Given the description of an element on the screen output the (x, y) to click on. 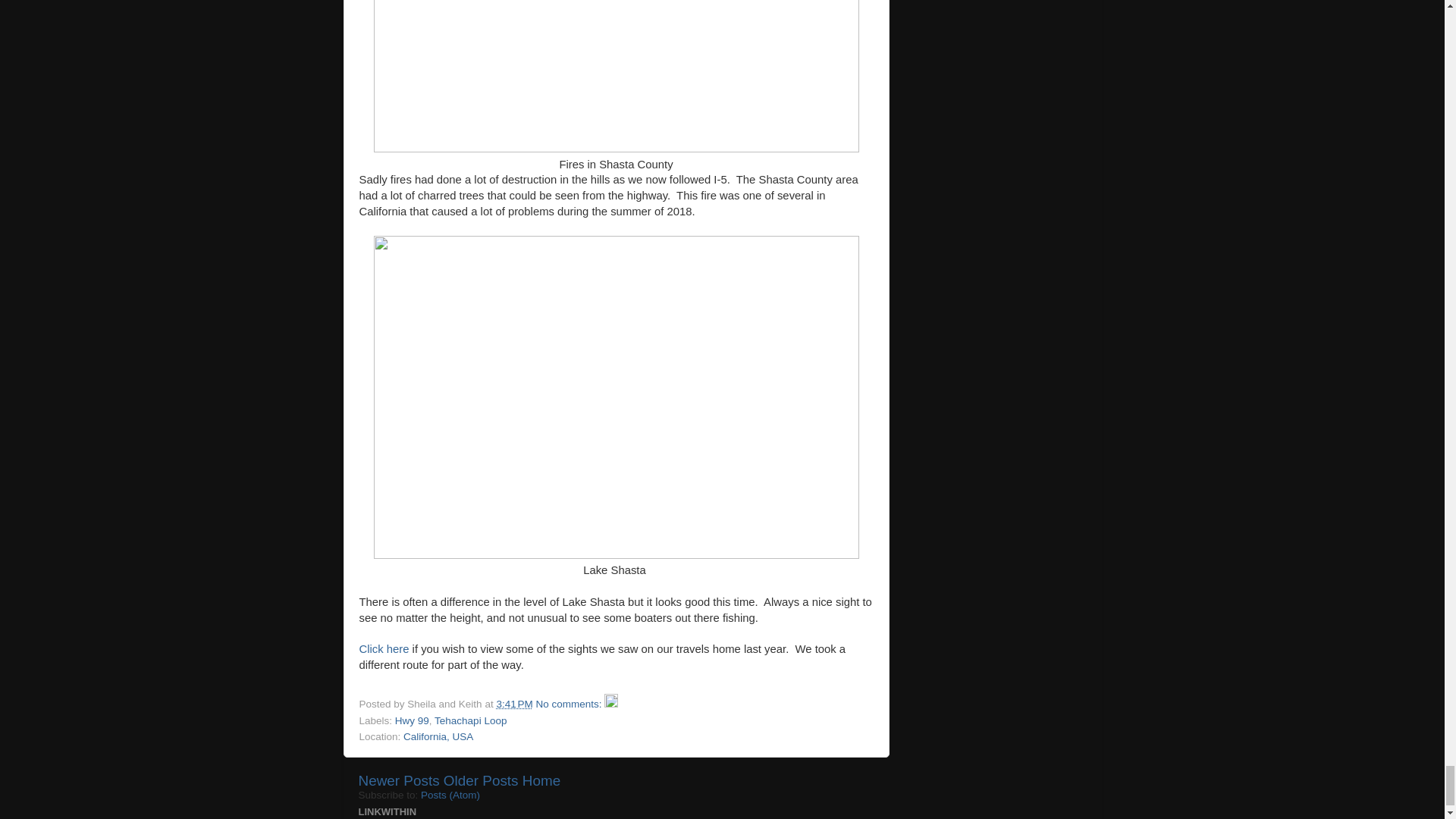
Older Posts (481, 780)
Newer Posts (398, 780)
Edit Post (610, 704)
permanent link (514, 704)
